Given the description of an element on the screen output the (x, y) to click on. 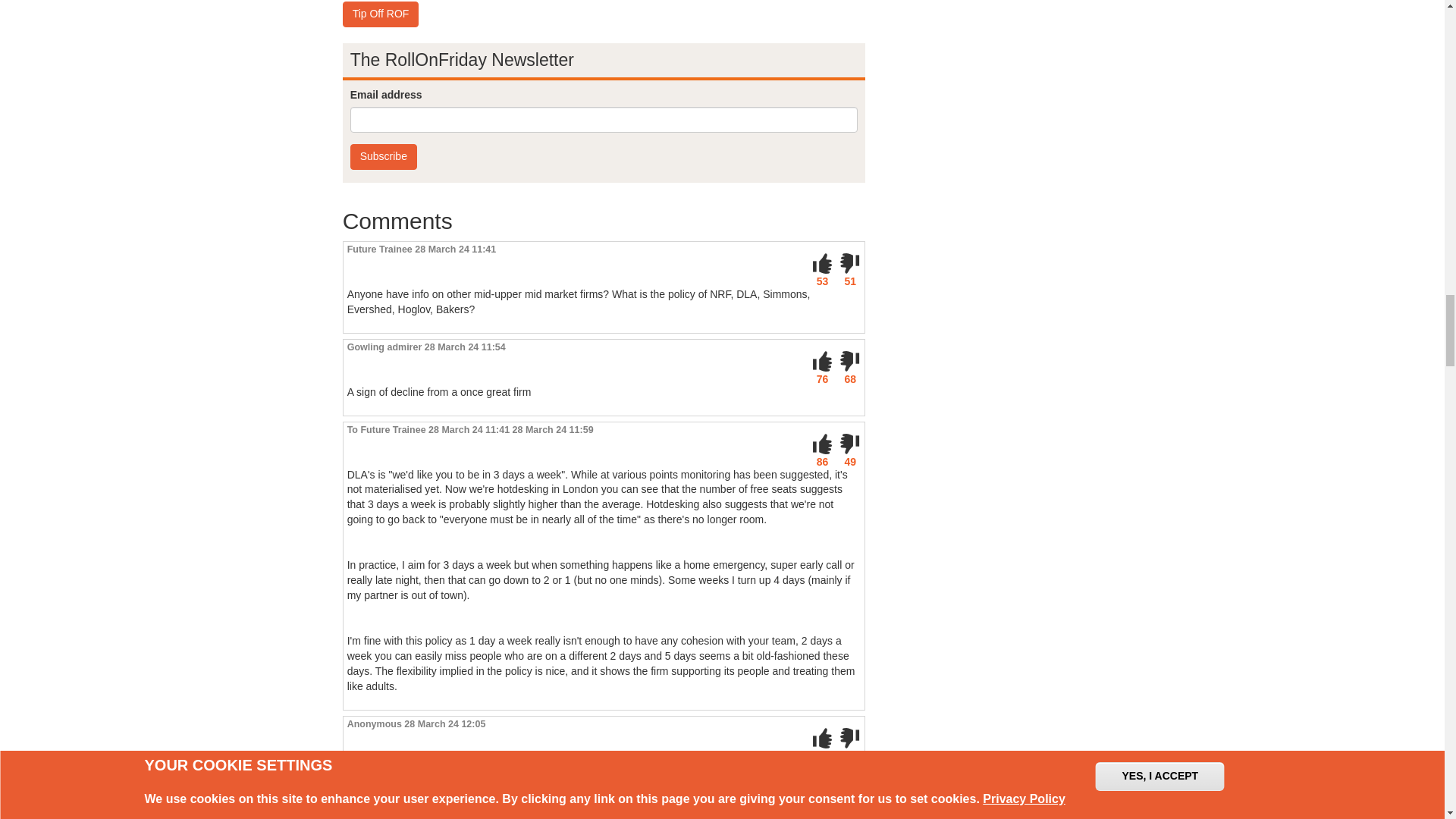
Vote up! (822, 361)
Vote down! (850, 361)
Vote up! (822, 738)
Vote up! (822, 444)
Vote down! (850, 444)
Vote up! (822, 263)
Vote down! (850, 738)
Vote down! (850, 263)
